Given the description of an element on the screen output the (x, y) to click on. 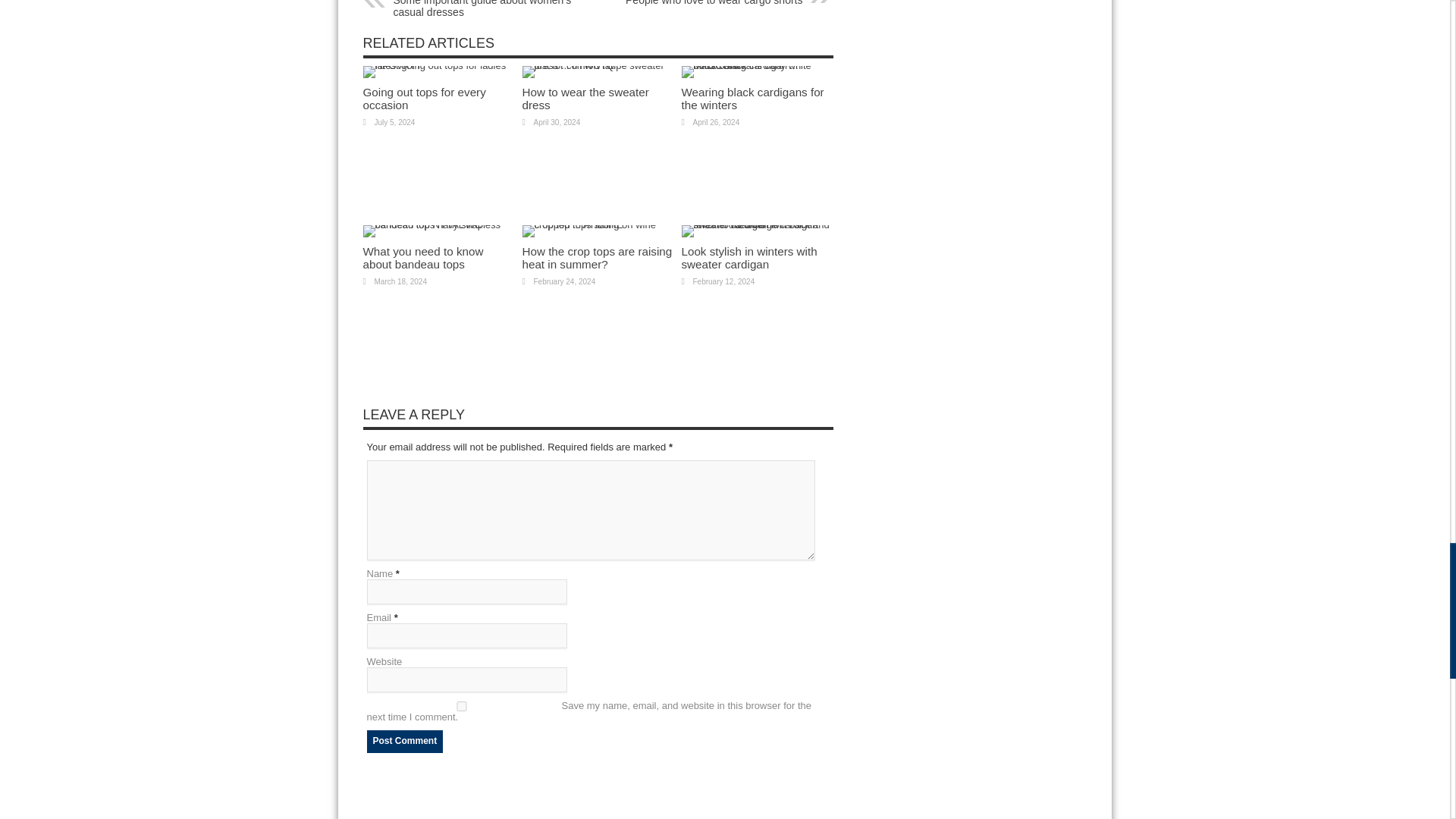
yes (461, 706)
Permalink to How to wear the sweater dress (596, 65)
Post Comment (405, 741)
Permalink to How to wear the sweater dress (584, 98)
Permalink to Wearing black cardigans for the winters (752, 98)
Permalink to What you need to know about bandeau tops (437, 224)
Going out tops for every occasion (423, 98)
Permalink to Going out tops for every occasion (423, 98)
Permalink to What you need to know about bandeau tops (422, 257)
Permalink to Going out tops for every occasion (437, 65)
Permalink to Wearing black cardigans for the winters (756, 65)
